Given the description of an element on the screen output the (x, y) to click on. 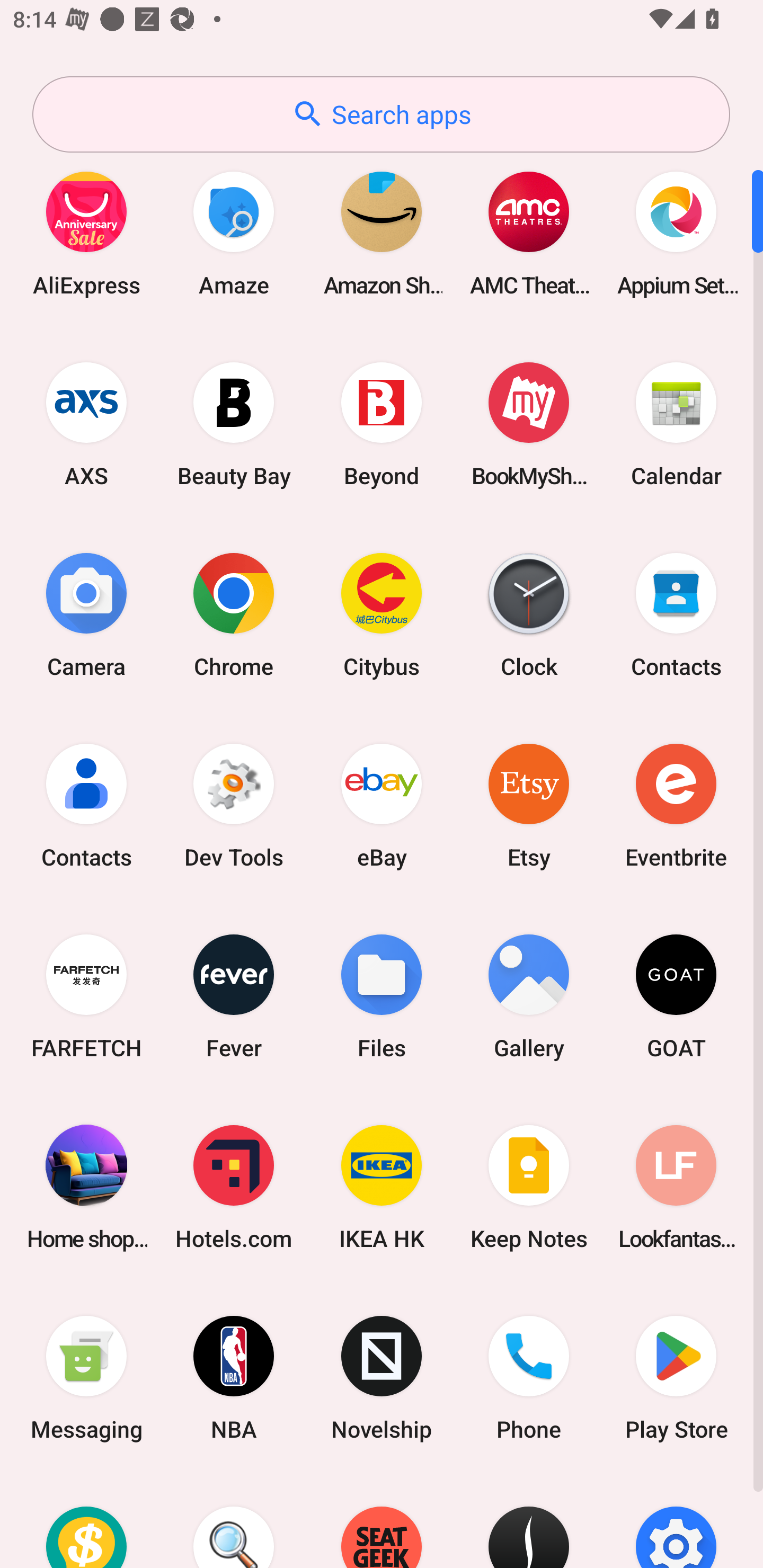
  Search apps (381, 114)
AliExpress (86, 233)
Amaze (233, 233)
Amazon Shopping (381, 233)
AMC Theatres (528, 233)
Appium Settings (676, 233)
AXS (86, 424)
Beauty Bay (233, 424)
Beyond (381, 424)
BookMyShow (528, 424)
Calendar (676, 424)
Camera (86, 614)
Chrome (233, 614)
Citybus (381, 614)
Clock (528, 614)
Contacts (676, 614)
Contacts (86, 805)
Dev Tools (233, 805)
eBay (381, 805)
Etsy (528, 805)
Eventbrite (676, 805)
FARFETCH (86, 996)
Fever (233, 996)
Files (381, 996)
Gallery (528, 996)
GOAT (676, 996)
Home shopping (86, 1186)
Hotels.com (233, 1186)
IKEA HK (381, 1186)
Keep Notes (528, 1186)
Lookfantastic (676, 1186)
Messaging (86, 1377)
NBA (233, 1377)
Novelship (381, 1377)
Phone (528, 1377)
Play Store (676, 1377)
